Given the description of an element on the screen output the (x, y) to click on. 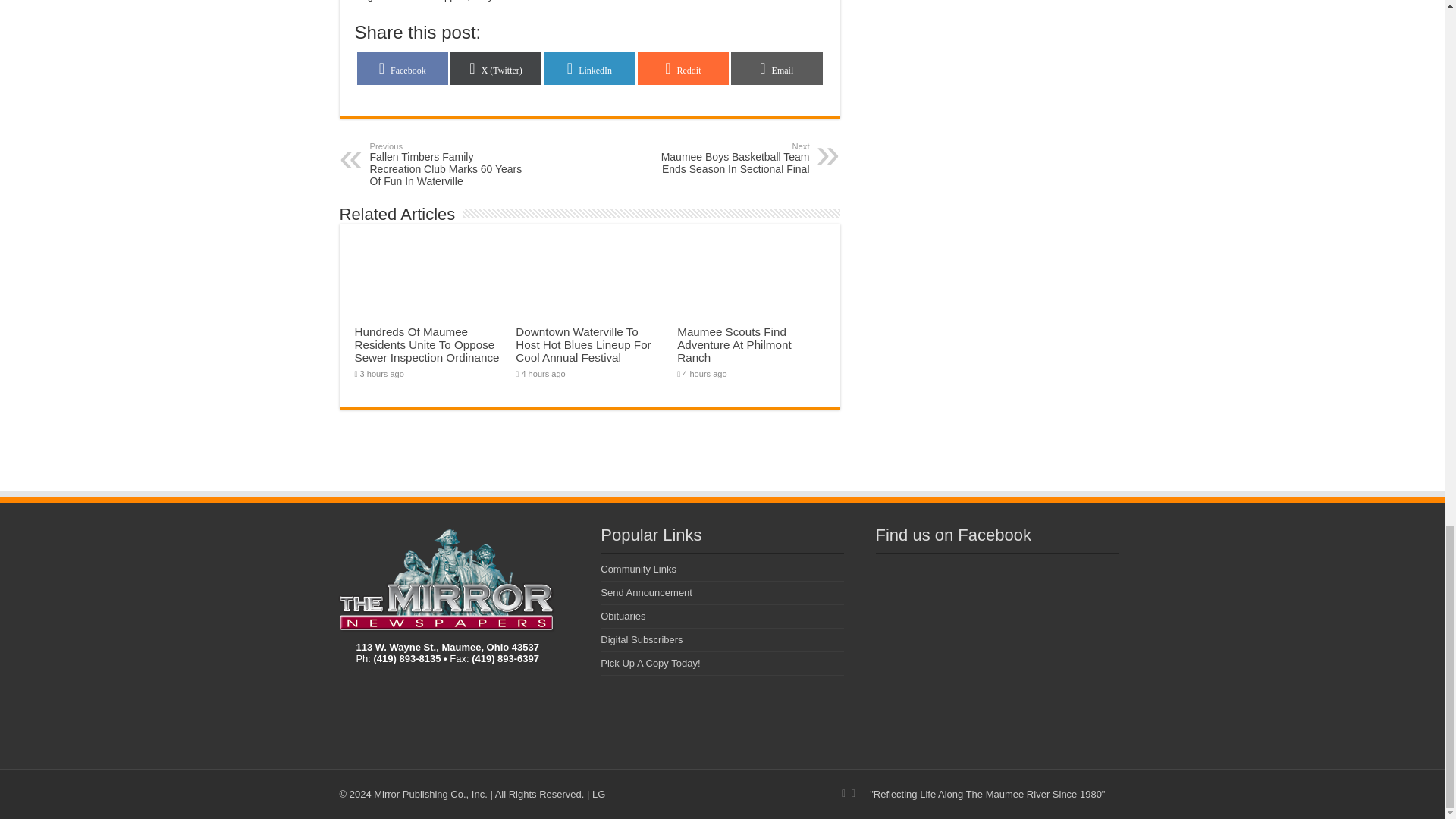
Facebook (843, 793)
Youtube (853, 793)
